Given the description of an element on the screen output the (x, y) to click on. 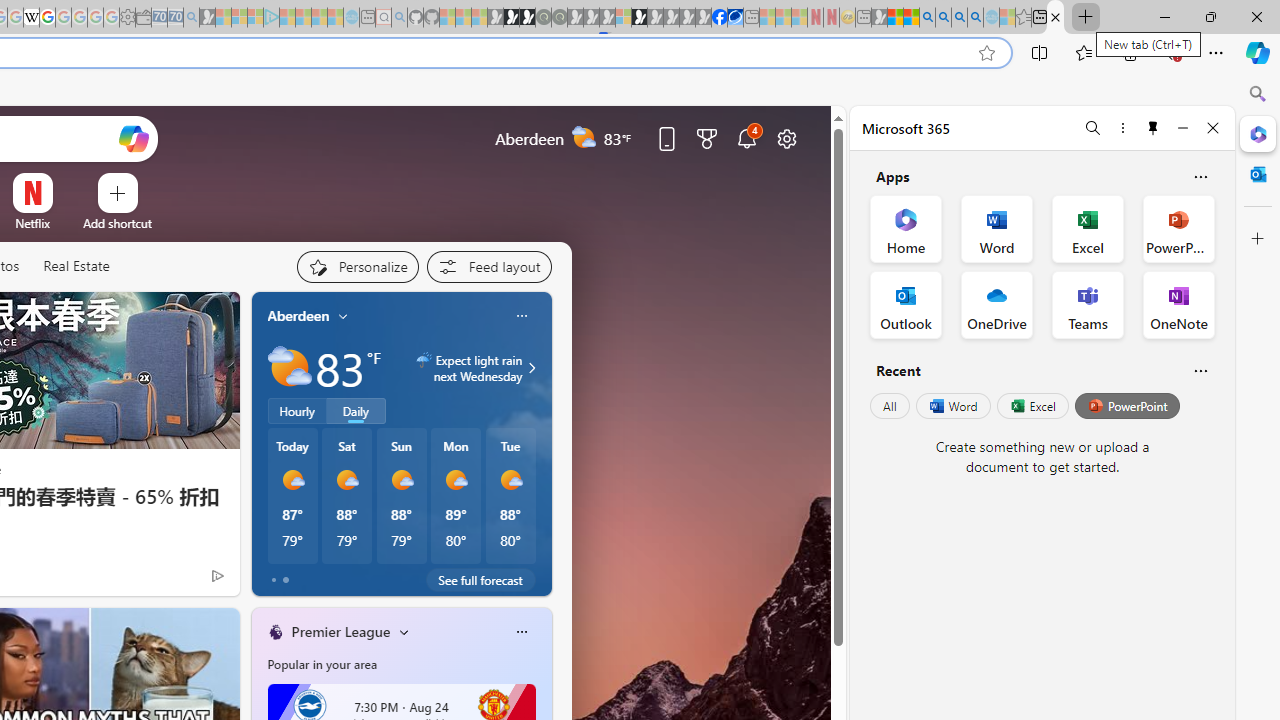
Add a site (117, 223)
Feed settings (488, 266)
Settings - Sleeping (127, 17)
Bing Real Estate - Home sales and rental listings - Sleeping (191, 17)
MSN - Sleeping (879, 17)
2009 Bing officially replaced Live Search on June 3 - Search (943, 17)
Aberdeen (298, 315)
